Given the description of an element on the screen output the (x, y) to click on. 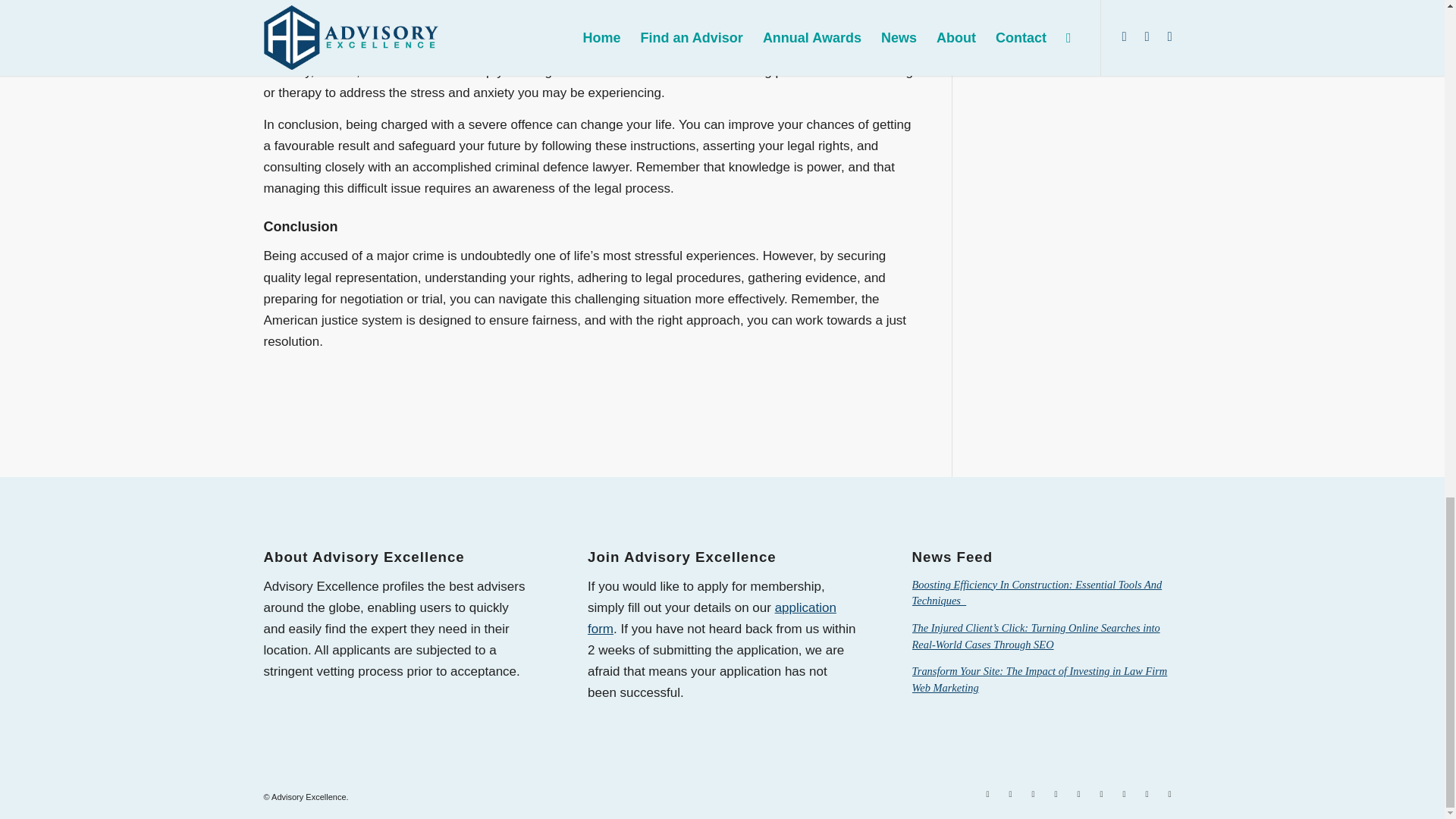
application form (711, 618)
